Given the description of an element on the screen output the (x, y) to click on. 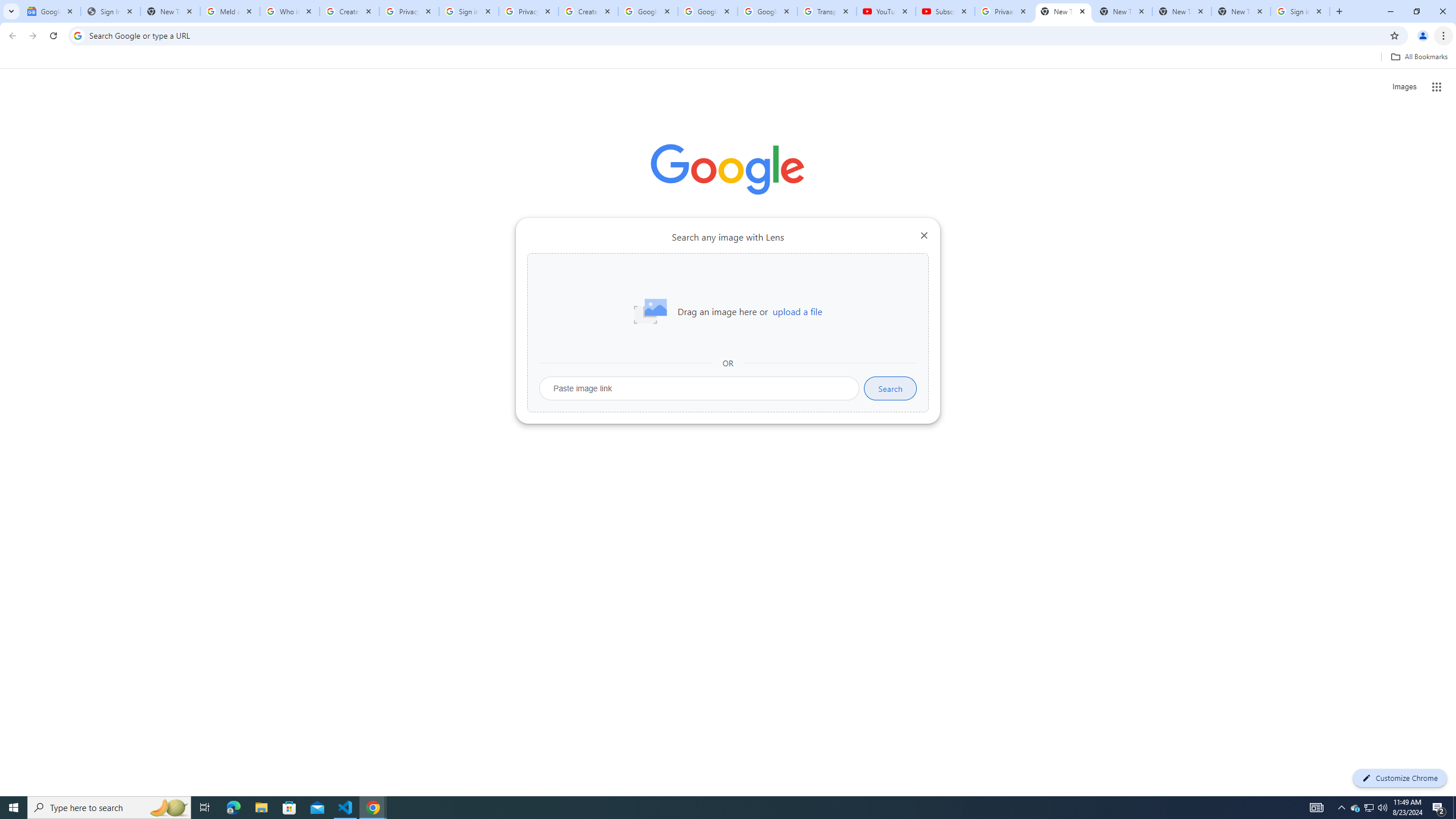
Sign in - Google Accounts (1300, 11)
